Given the description of an element on the screen output the (x, y) to click on. 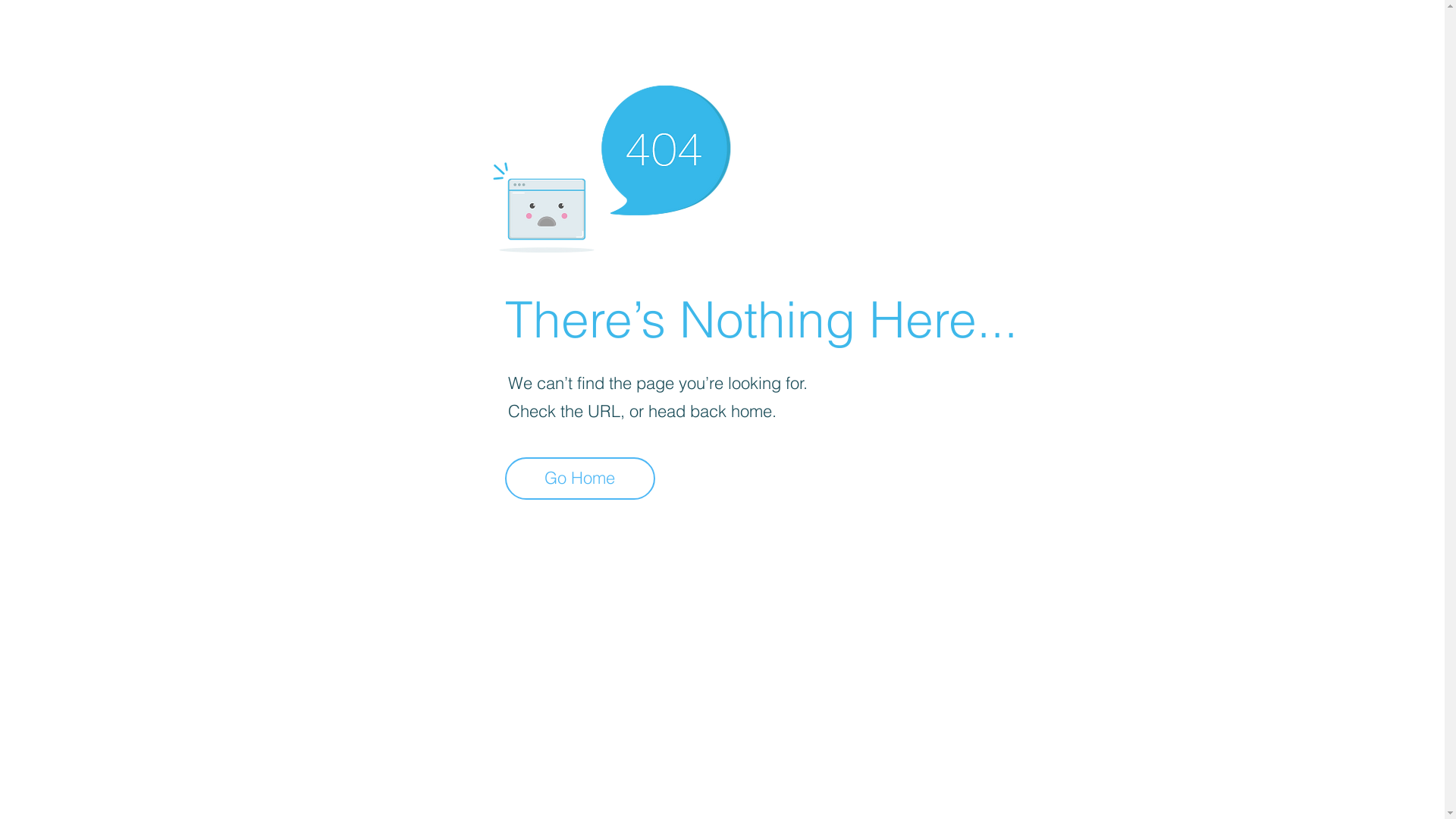
Go Home Element type: text (580, 478)
404-icon_2.png Element type: hover (610, 164)
